Given the description of an element on the screen output the (x, y) to click on. 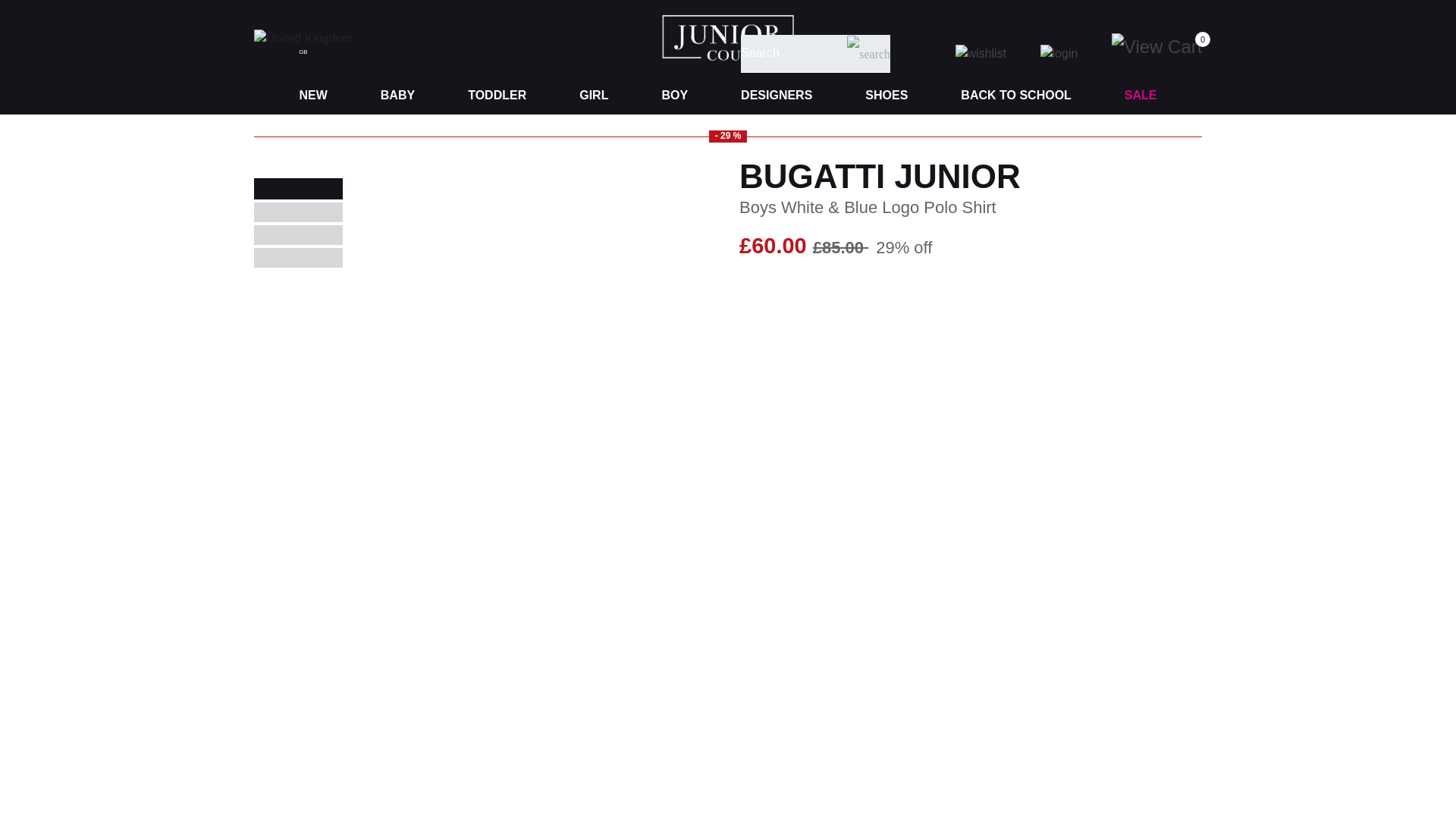
Juniour Couture Home (727, 36)
0 (1166, 45)
BABY (397, 95)
Cart 0 Items (1166, 45)
